Given the description of an element on the screen output the (x, y) to click on. 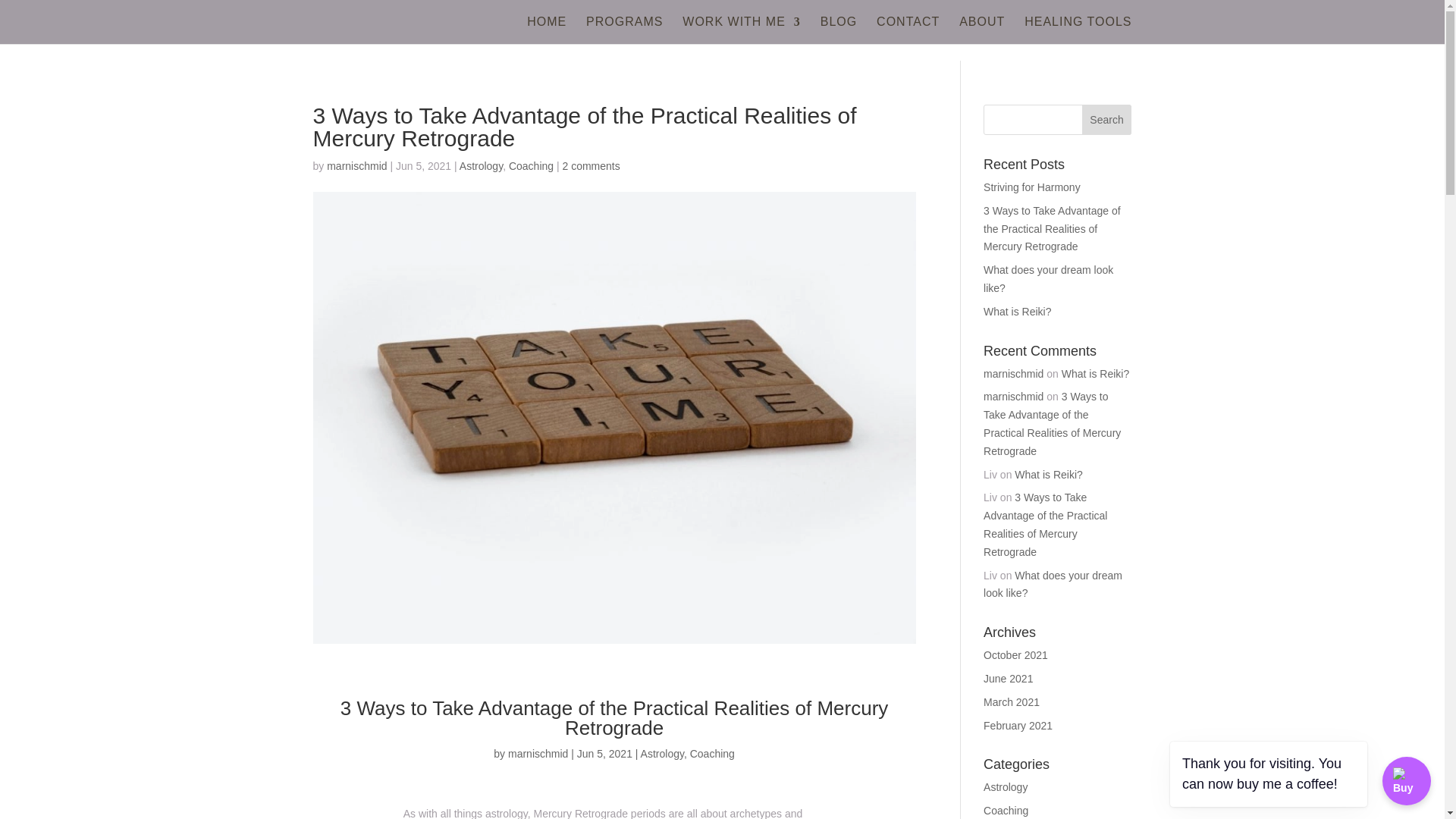
PROGRAMS (624, 30)
CONTACT (907, 30)
HOME (546, 30)
marnischmid (537, 753)
2 comments (591, 165)
ABOUT (981, 30)
Search (1106, 119)
Coaching (530, 165)
Coaching (712, 753)
Astrology (481, 165)
